Given the description of an element on the screen output the (x, y) to click on. 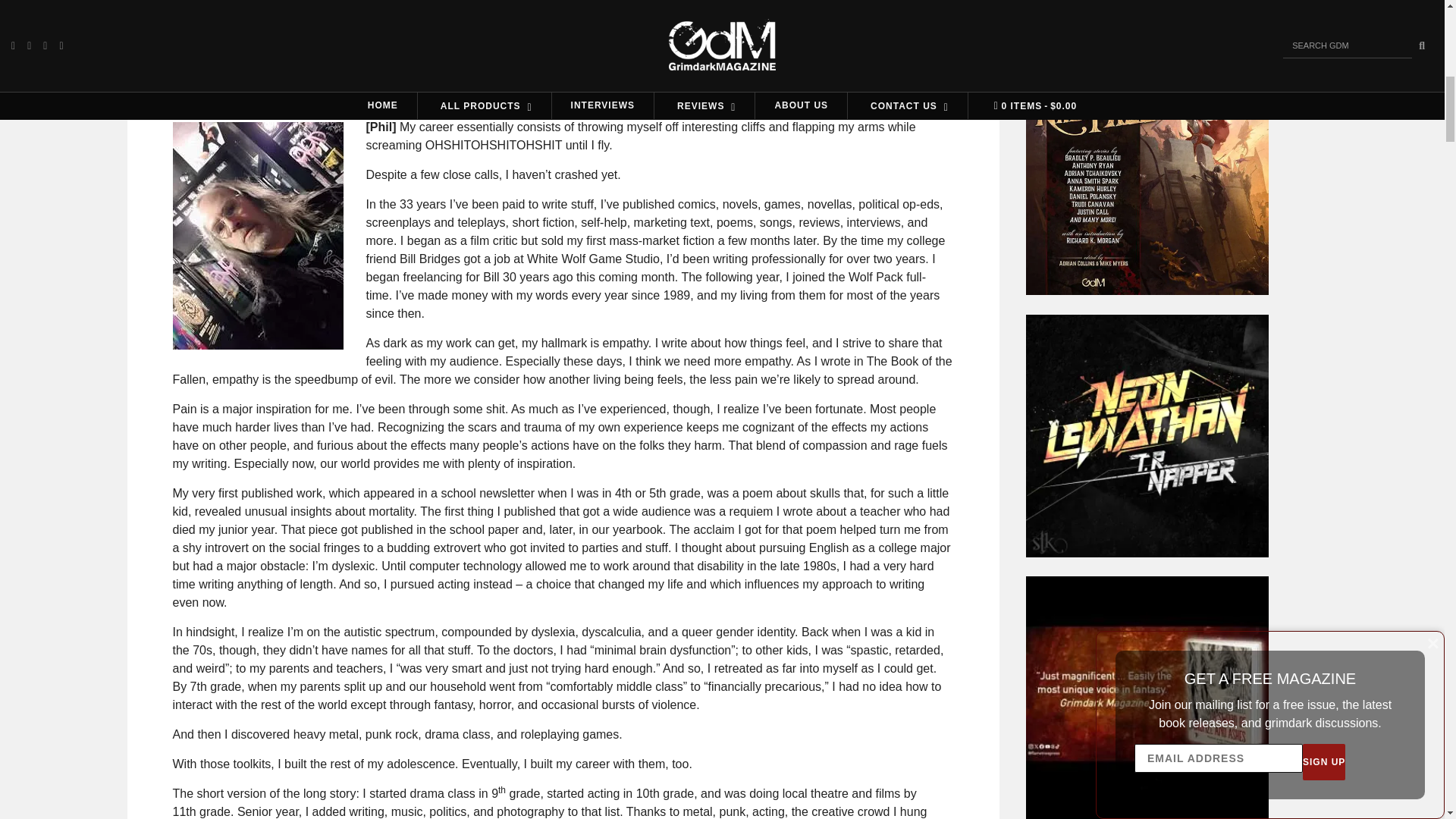
World of Darkness (374, 0)
